Given the description of an element on the screen output the (x, y) to click on. 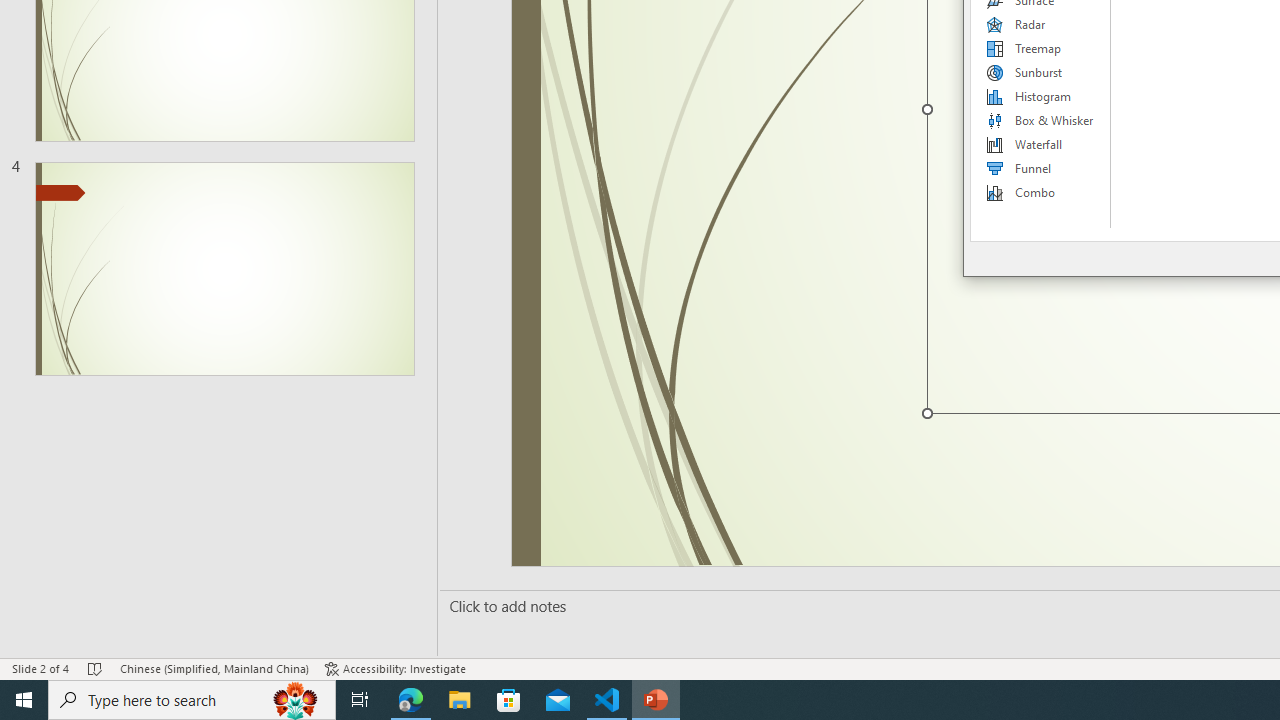
Treemap (1041, 48)
Histogram (1041, 96)
Radar (1041, 24)
Waterfall (1041, 144)
Sunburst (1041, 72)
Combo (1041, 192)
